Given the description of an element on the screen output the (x, y) to click on. 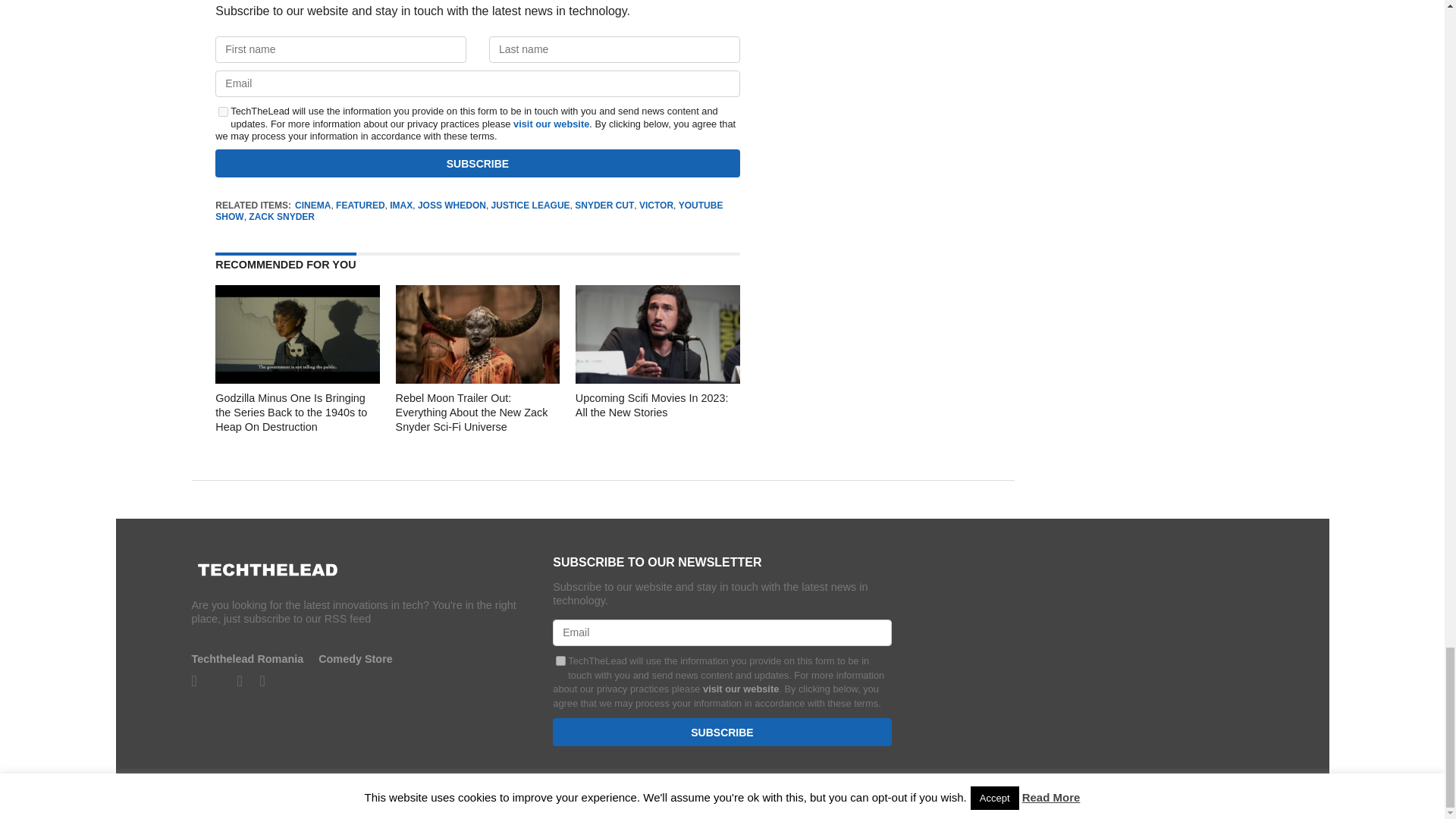
1 (561, 660)
Subscribe (477, 163)
1 (223, 112)
Upcoming Scifi Movies In 2023: All the New Stories (657, 379)
Subscribe (722, 732)
